Given the description of an element on the screen output the (x, y) to click on. 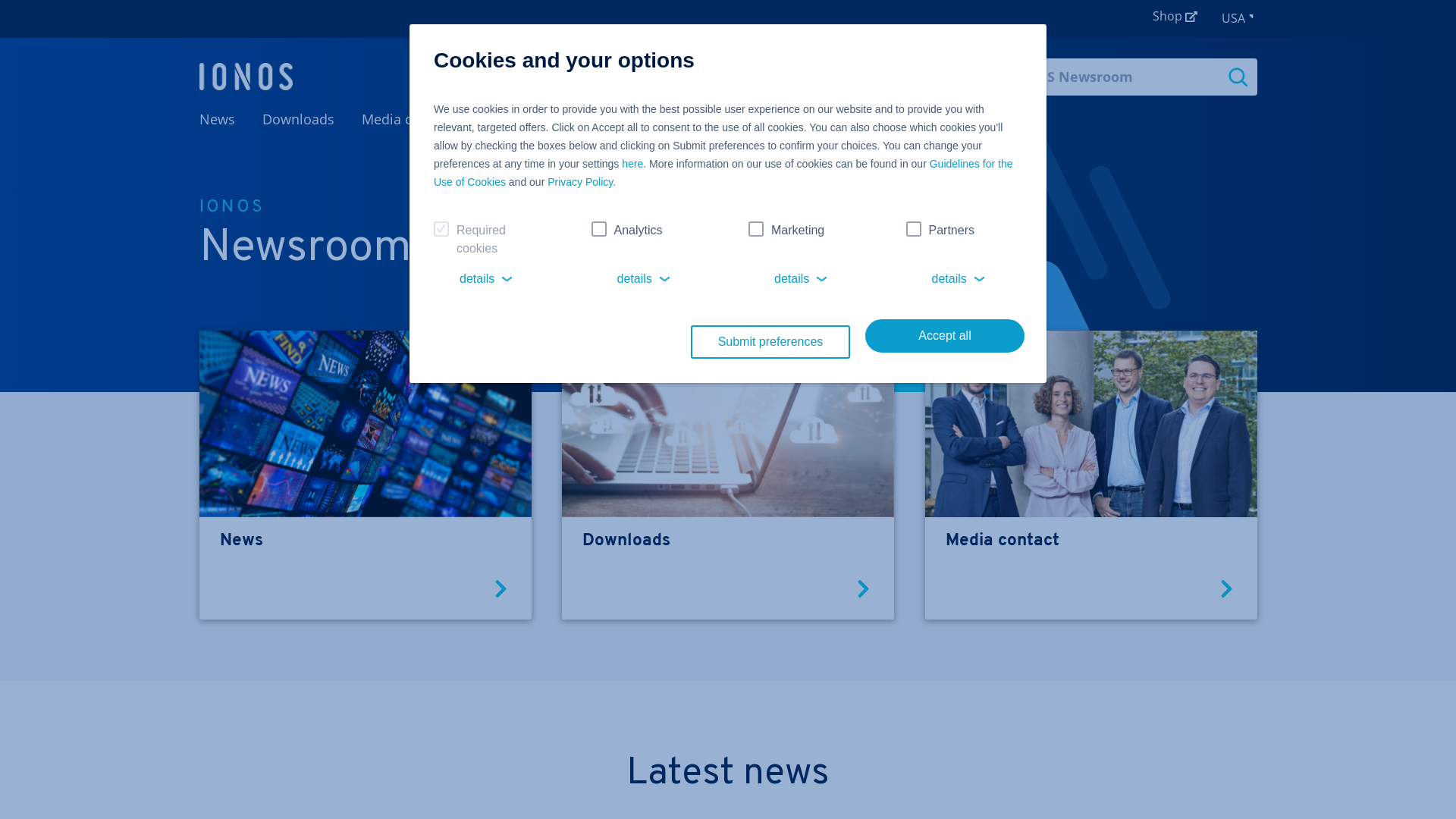
Guidelines for the Use of Cookies Element type: text (722, 172)
Search Element type: text (1238, 76)
here Element type: text (632, 163)
Return to homepage Element type: hover (244, 76)
Downloads Element type: text (298, 118)
Privacy Policy. Element type: text (581, 181)
Downloads Element type: text (727, 540)
Accept all Element type: text (944, 335)
Shop Element type: text (1174, 16)
News Element type: text (364, 540)
News Element type: text (216, 118)
Media contact Element type: text (1091, 540)
Submit preferences Element type: text (770, 341)
USA Element type: text (1239, 18)
Media contact Element type: text (405, 118)
